Given the description of an element on the screen output the (x, y) to click on. 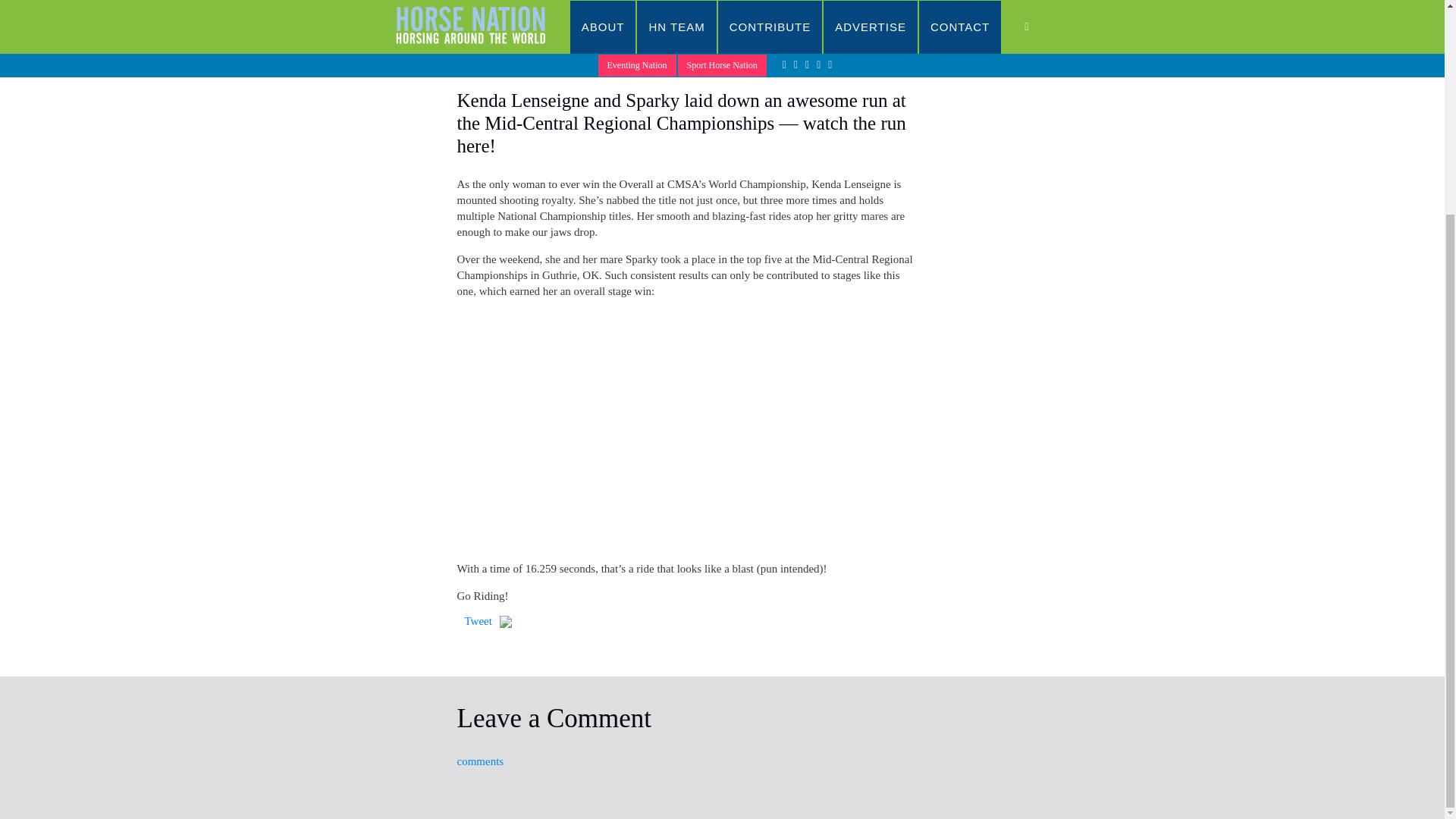
Tweet (478, 621)
Leave a comment (534, 54)
View all posts by DeAnn Sloan (561, 38)
DeAnn Long Sloan (647, 38)
Cowboy Mounted Shooting (722, 735)
Performance of the Week (760, 38)
DeAnn Sloan (677, 46)
June 5, 2019 (561, 38)
Permalink to Performance of the Week: Kenda Lenseigne (487, 38)
